Given the description of an element on the screen output the (x, y) to click on. 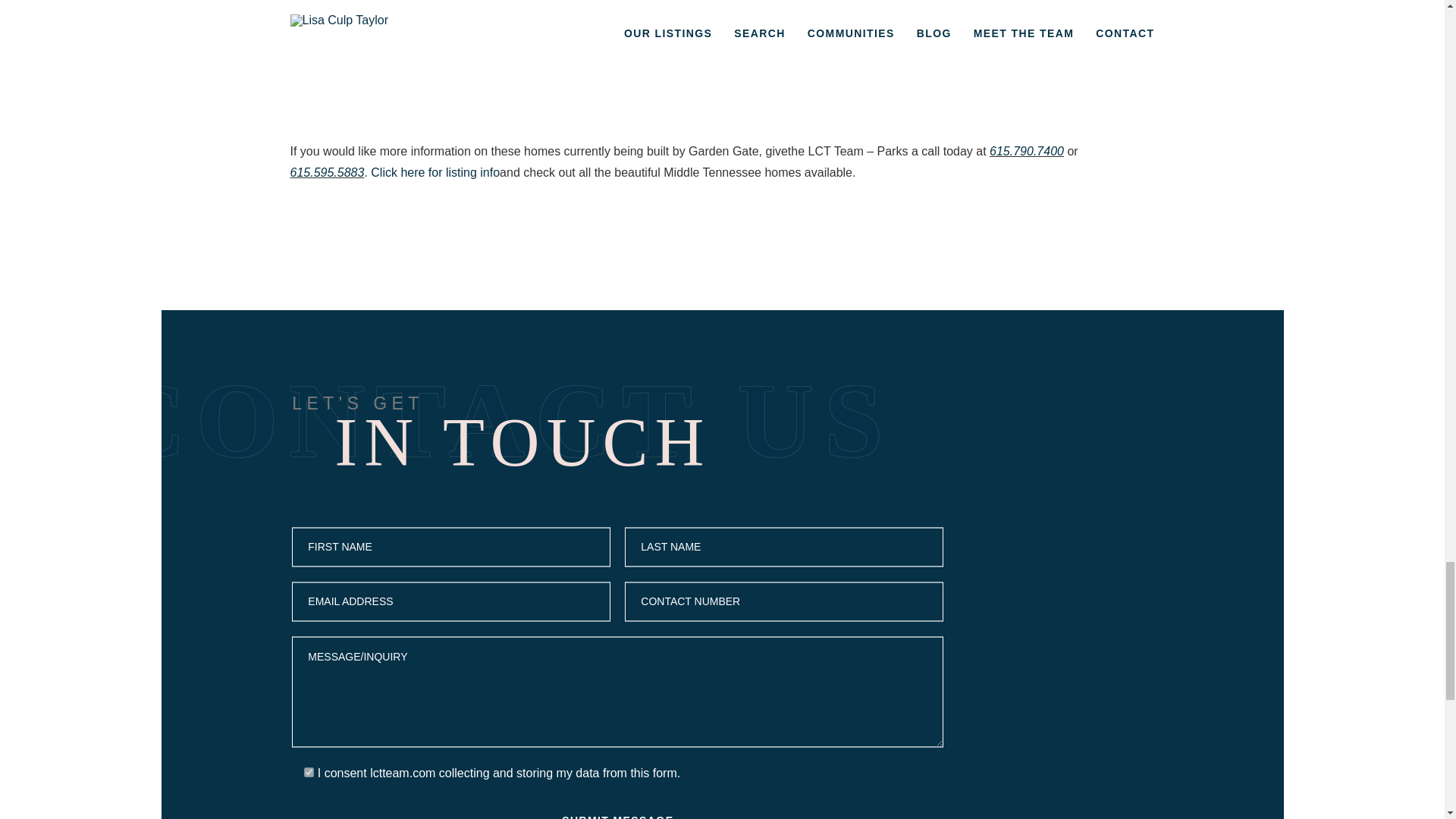
615.790.7400 (1027, 151)
Click here for listing info (435, 172)
615.595.5883 (326, 172)
lctteam.com (402, 772)
1 (309, 772)
SUBMIT MESSAGE (617, 816)
